Given the description of an element on the screen output the (x, y) to click on. 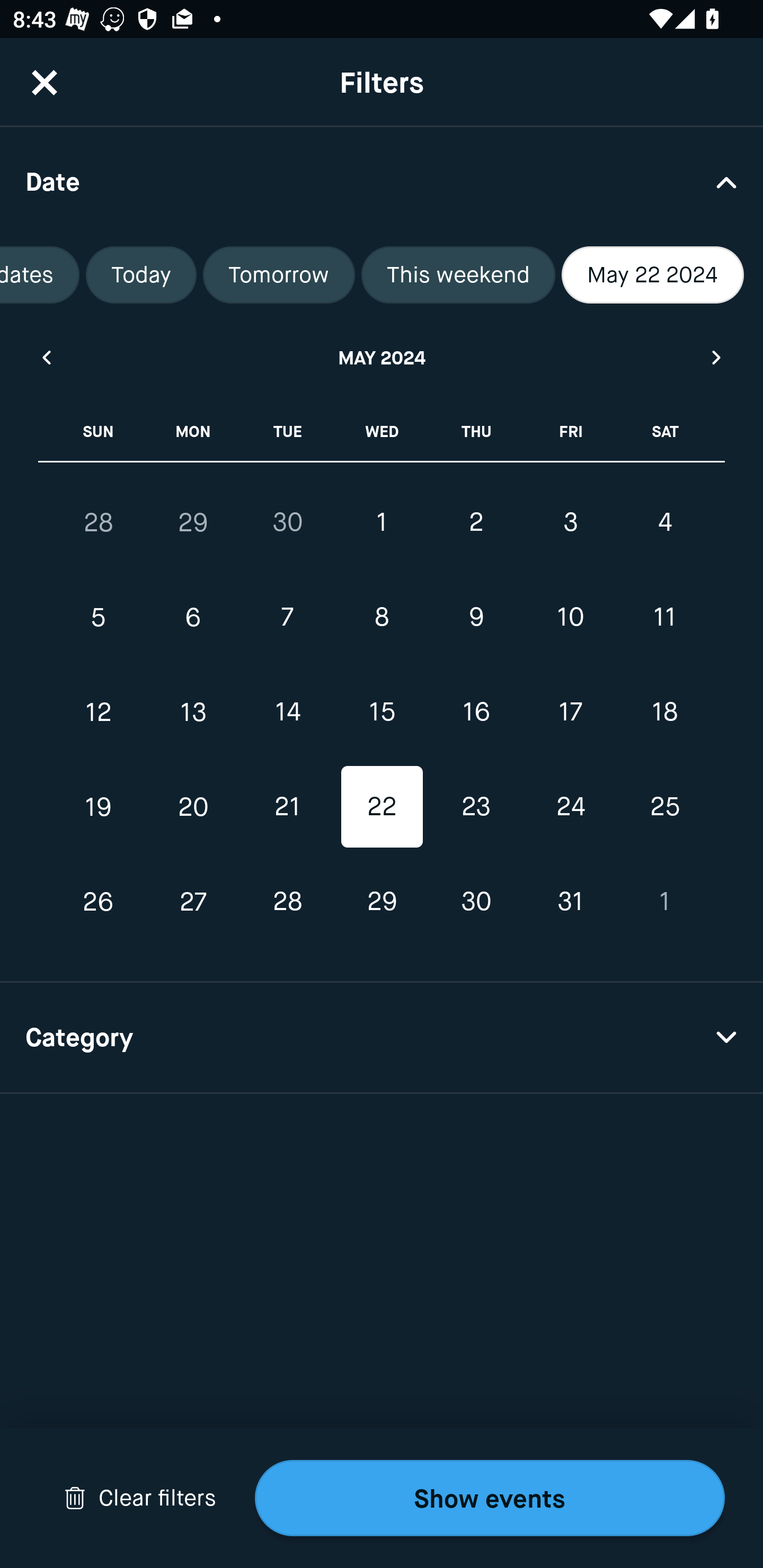
CloseButton (44, 82)
Date Drop Down Arrow (381, 181)
All dates (39, 274)
Today (140, 274)
Tomorrow (278, 274)
This weekend (458, 274)
May 22 2024 (652, 274)
Previous (45, 357)
Next (717, 357)
28 (98, 522)
29 (192, 522)
30 (287, 522)
1 (381, 522)
2 (475, 522)
3 (570, 522)
4 (664, 522)
5 (98, 617)
6 (192, 617)
7 (287, 617)
8 (381, 617)
9 (475, 617)
10 (570, 617)
11 (664, 617)
12 (98, 711)
13 (192, 711)
14 (287, 711)
15 (381, 711)
16 (475, 711)
17 (570, 711)
18 (664, 711)
19 (98, 806)
20 (192, 806)
21 (287, 806)
22 (381, 806)
23 (475, 806)
24 (570, 806)
25 (664, 806)
26 (98, 901)
27 (192, 901)
28 (287, 901)
29 (381, 901)
30 (475, 901)
31 (570, 901)
1 (664, 901)
Category Drop Down Arrow (381, 1038)
Drop Down Arrow Clear filters (139, 1497)
Show events (489, 1497)
